Given the description of an element on the screen output the (x, y) to click on. 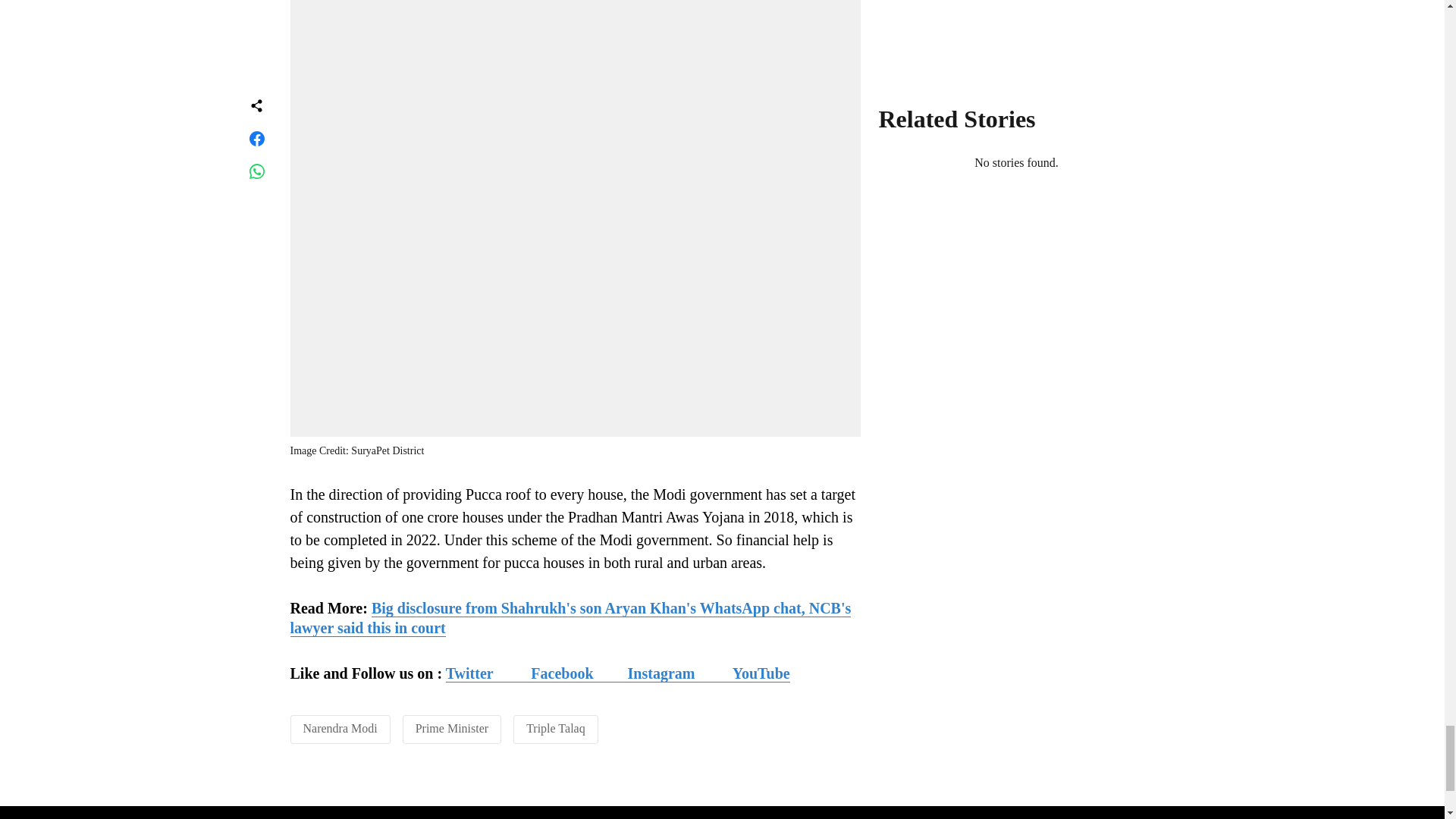
Facebook (561, 673)
Narendra Modi (339, 727)
Instagram           (679, 673)
Triple Talaq (555, 727)
YouTube (761, 673)
Prime Minister (450, 727)
Twitter           (488, 673)
